Given the description of an element on the screen output the (x, y) to click on. 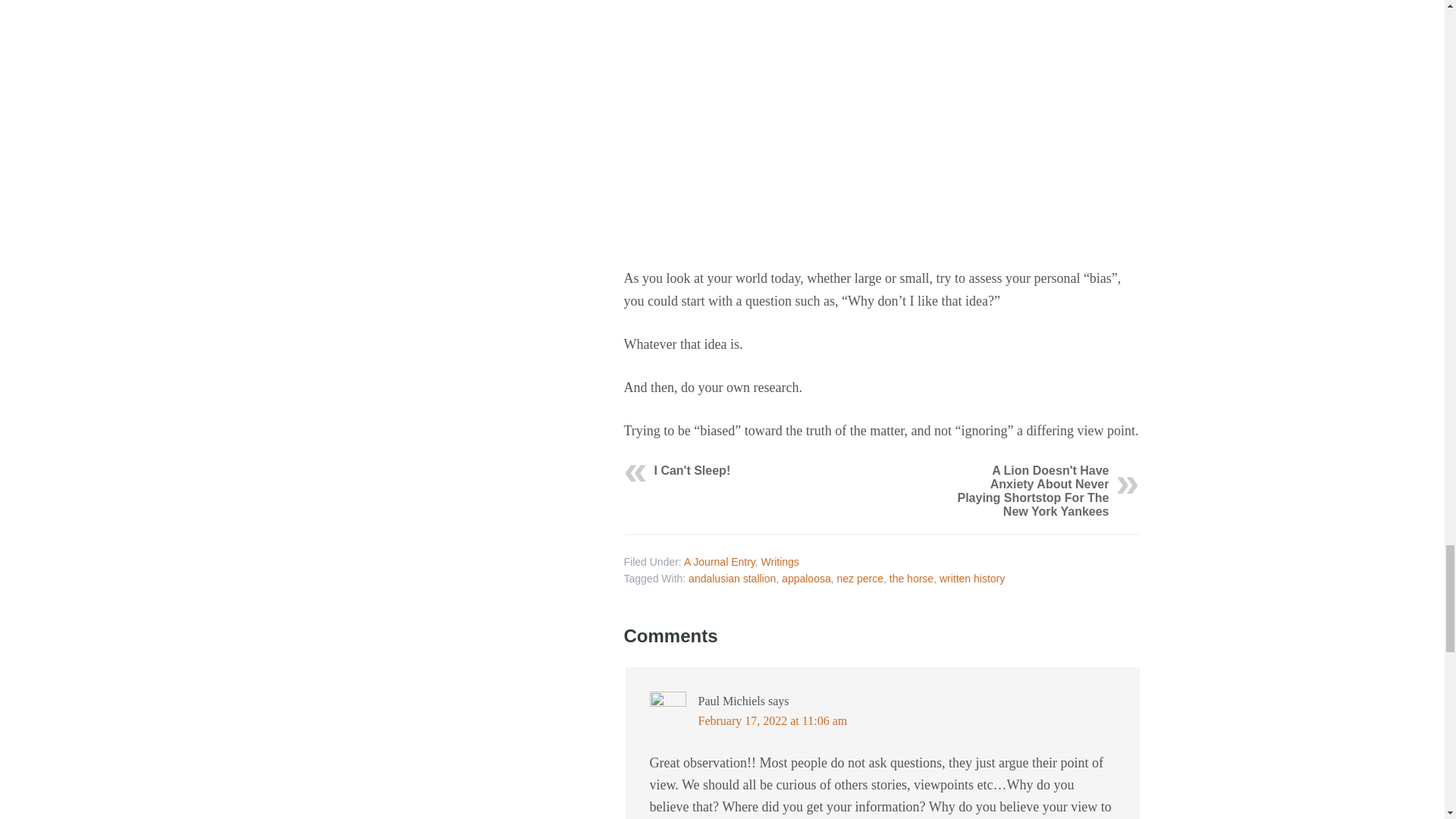
I Can't Sleep! (691, 470)
appaloosa (806, 578)
nez perce (860, 578)
February 17, 2022 at 11:06 am (772, 720)
andalusian stallion (732, 578)
A Journal Entry (719, 562)
written history (971, 578)
the horse (911, 578)
Writings (780, 562)
